Given the description of an element on the screen output the (x, y) to click on. 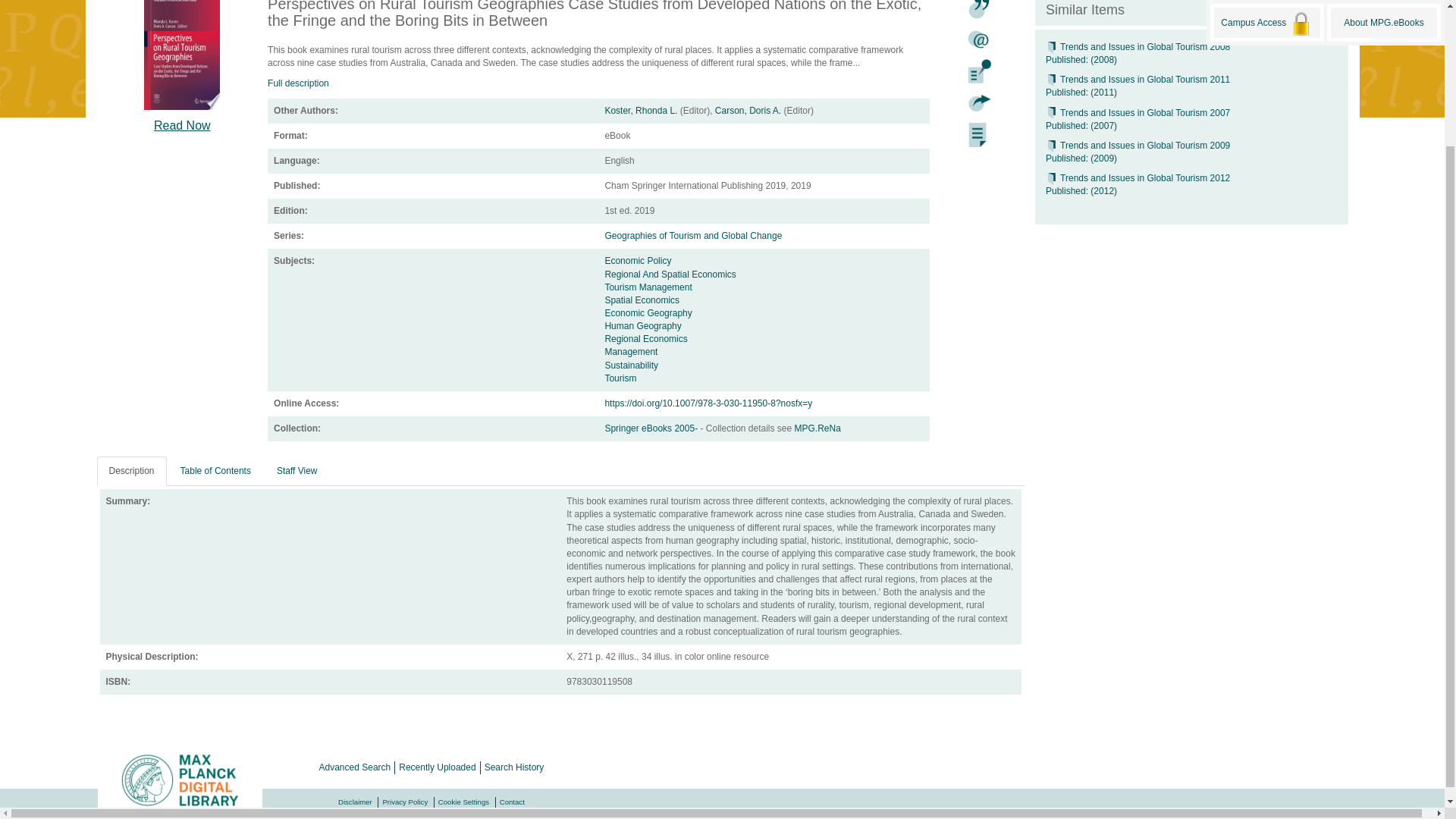
Regional Economics (645, 338)
Economic Geography (647, 312)
Regional And Spatial Economics (669, 274)
Sustainability (631, 365)
Spatial Economics (641, 299)
Regional And Spatial Economics (669, 274)
Springer eBooks 2005- (652, 428)
Sustainability (631, 365)
MPG.ReNa (817, 428)
Geographies of Tourism and Global Change (692, 235)
